Given the description of an element on the screen output the (x, y) to click on. 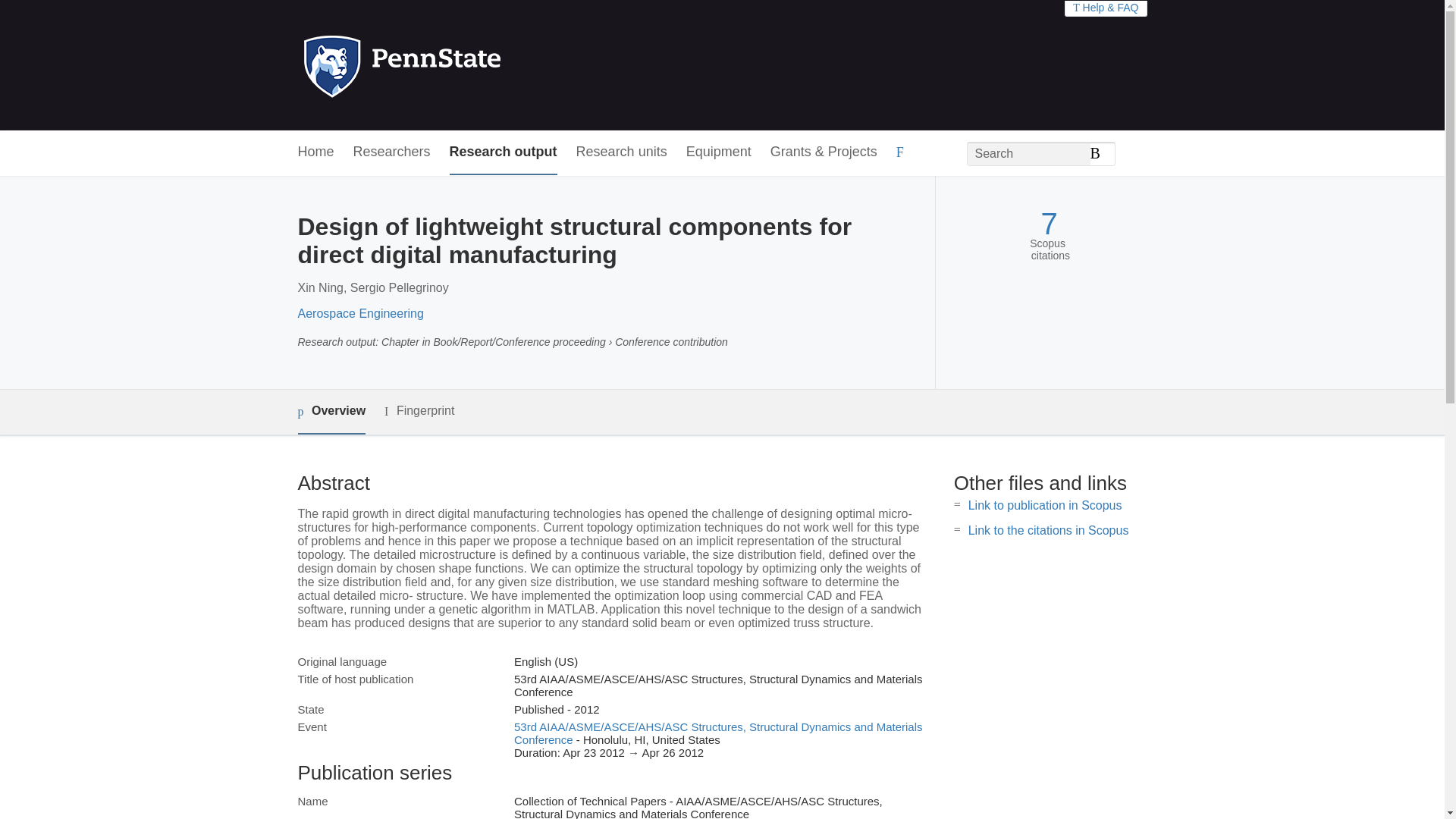
Research units (621, 152)
Overview (331, 411)
Research output (503, 152)
Equipment (718, 152)
Researchers (391, 152)
Link to publication in Scopus (1045, 504)
Link to the citations in Scopus (1048, 530)
Aerospace Engineering (360, 313)
7 (1049, 223)
Fingerprint (419, 411)
Home (315, 152)
Penn State Home (467, 65)
